Given the description of an element on the screen output the (x, y) to click on. 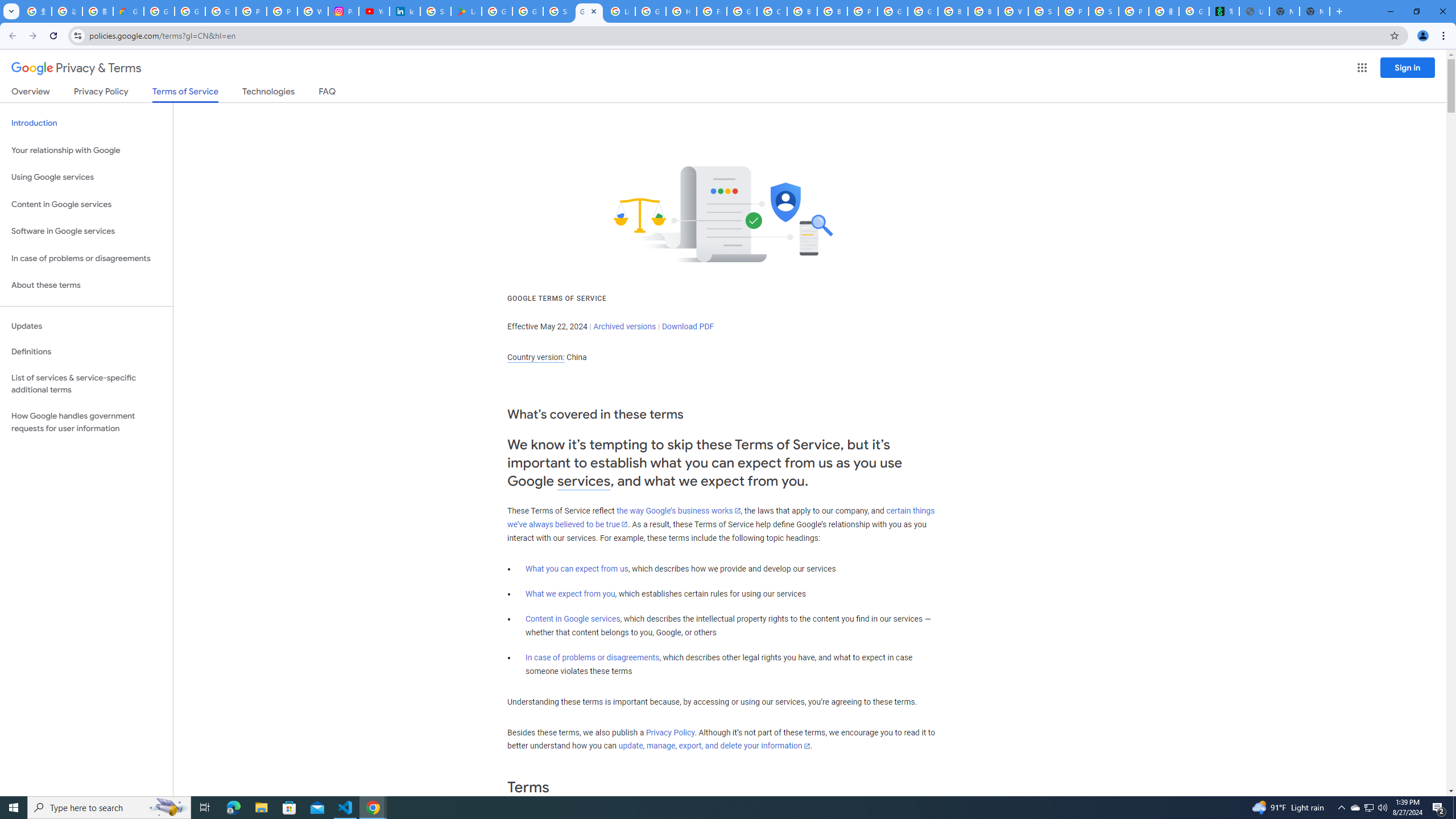
Untitled (1254, 11)
Google Cloud Platform (892, 11)
How do I create a new Google Account? - Google Account Help (681, 11)
What you can expect from us (576, 568)
How Google handles government requests for user information (86, 422)
New Tab (1314, 11)
